Given the description of an element on the screen output the (x, y) to click on. 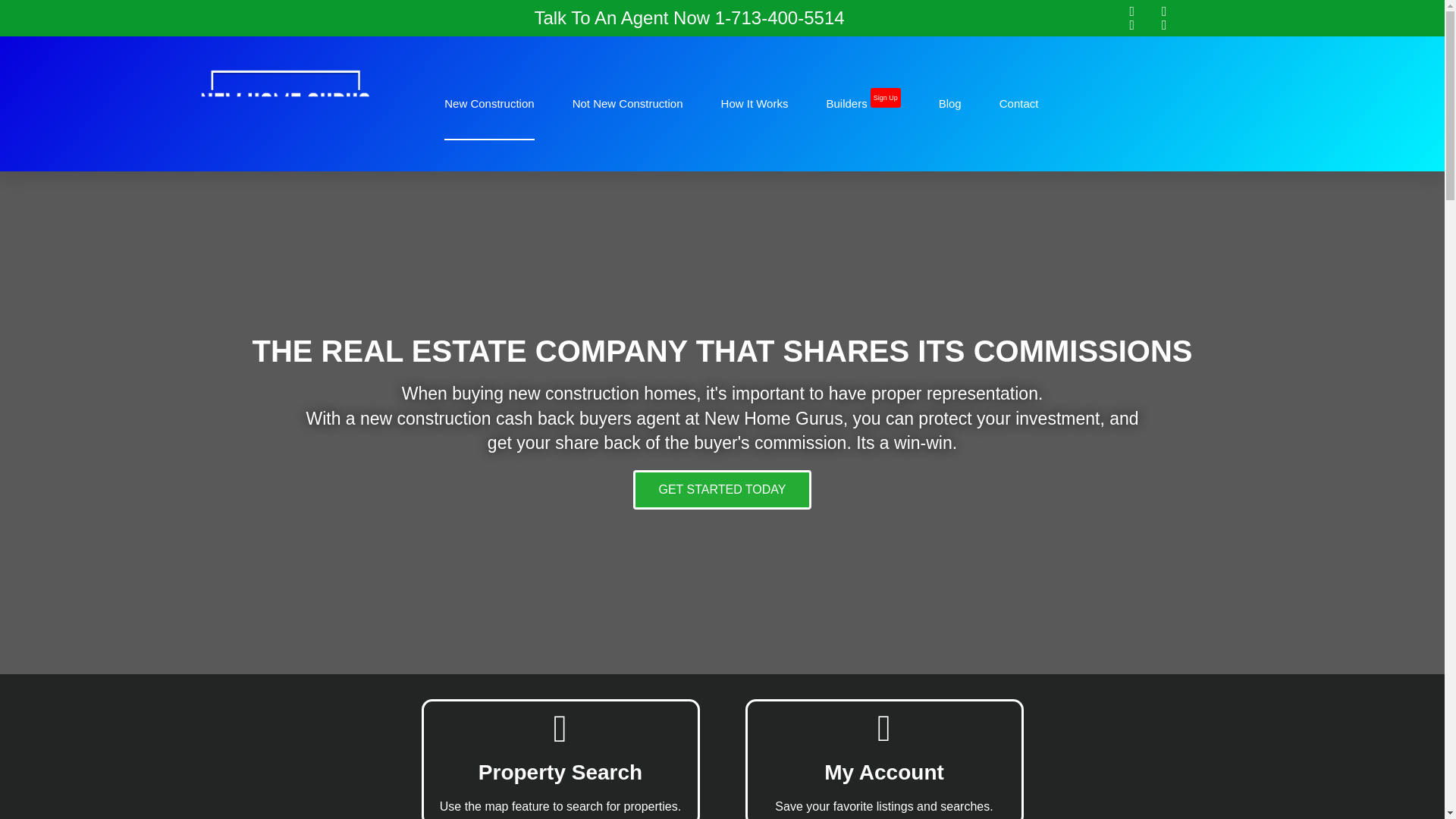
Not New Construction (627, 103)
Property Search (560, 771)
Talk To An Agent Now 1-713-400-5514 (689, 17)
How It Works (754, 103)
New Construction (489, 103)
GET STARTED TODAY (721, 489)
My Account (883, 771)
